Given the description of an element on the screen output the (x, y) to click on. 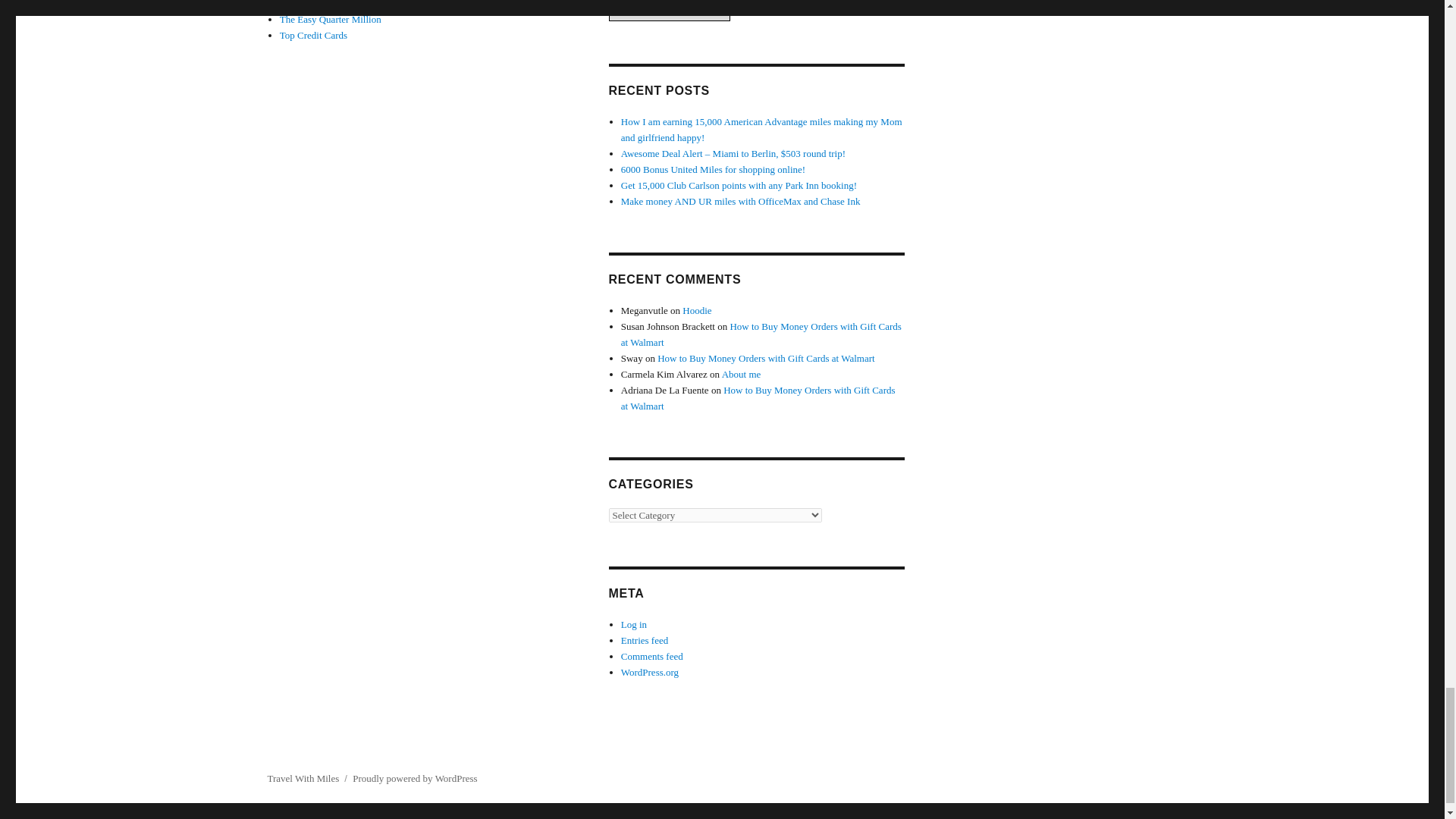
Join Now (647, 6)
